Given the description of an element on the screen output the (x, y) to click on. 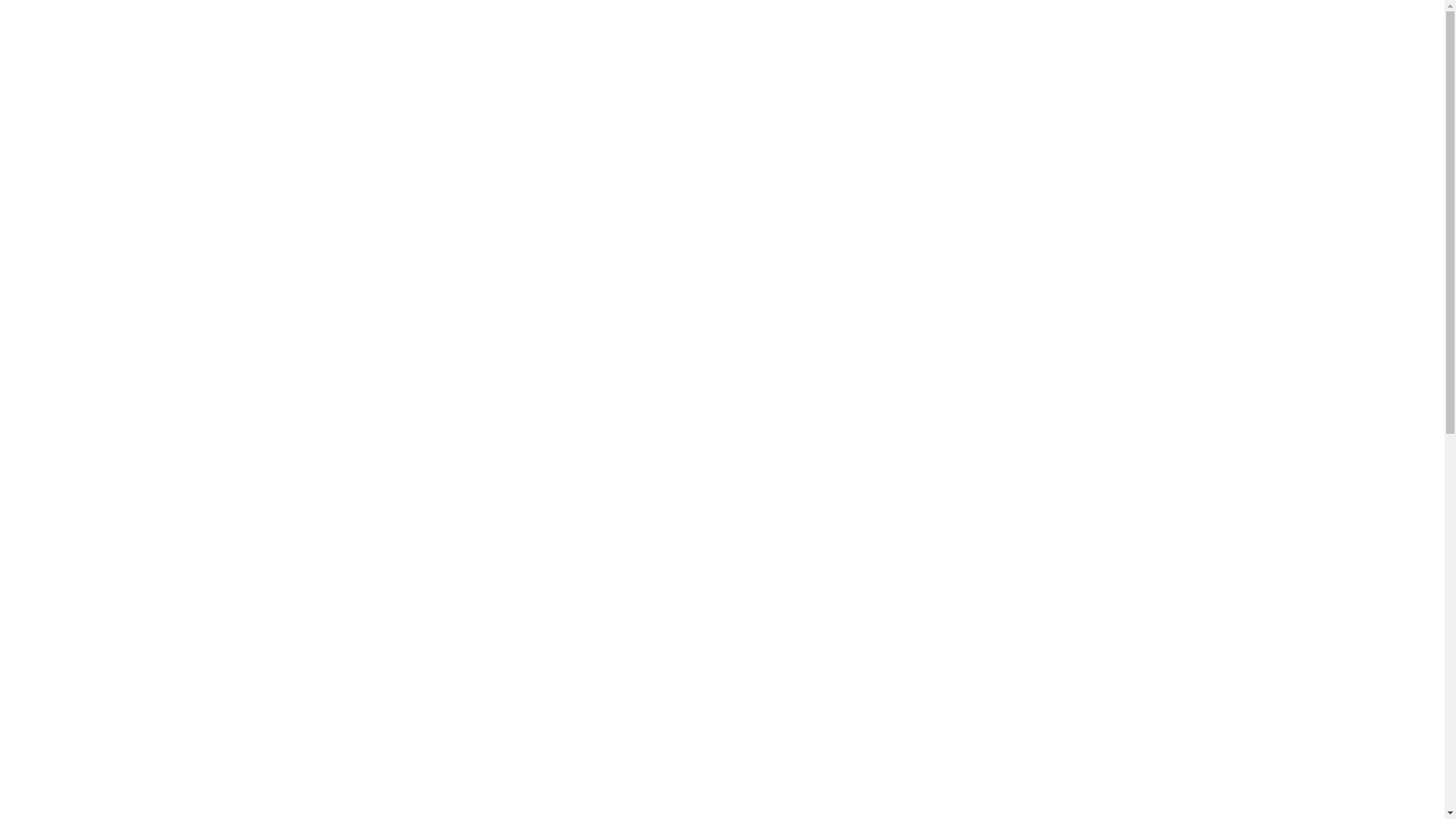
131 546 Element type: text (1075, 19)
131 546 Element type: text (365, 454)
MINOR PAINTING SERVICES Element type: text (1305, 658)
Home Element type: text (1105, 194)
OUTDOOR SHEDS & CARPORTS Element type: text (1013, 658)
NEWS Element type: text (1074, 96)
CONTACT Element type: text (1140, 96)
LOCATIONS Element type: text (996, 96)
HOME Element type: text (733, 96)
request a free quote Element type: text (462, 454)
PLASTERING SERVICES Element type: text (430, 658)
GET A QUOTE Element type: text (271, 20)
BECOME A FRANCHISEE Element type: text (376, 20)
admin@jims.net Element type: text (1147, 19)
ABOUT JIM'S Element type: text (814, 96)
Locations Element type: text (1154, 194)
QLD Element type: text (1201, 194)
VERANDAS, PERGOLAS & DECKING Element type: text (138, 658)
TILING SERVICES Element type: text (722, 658)
SERVICES Element type: text (909, 96)
